Given the description of an element on the screen output the (x, y) to click on. 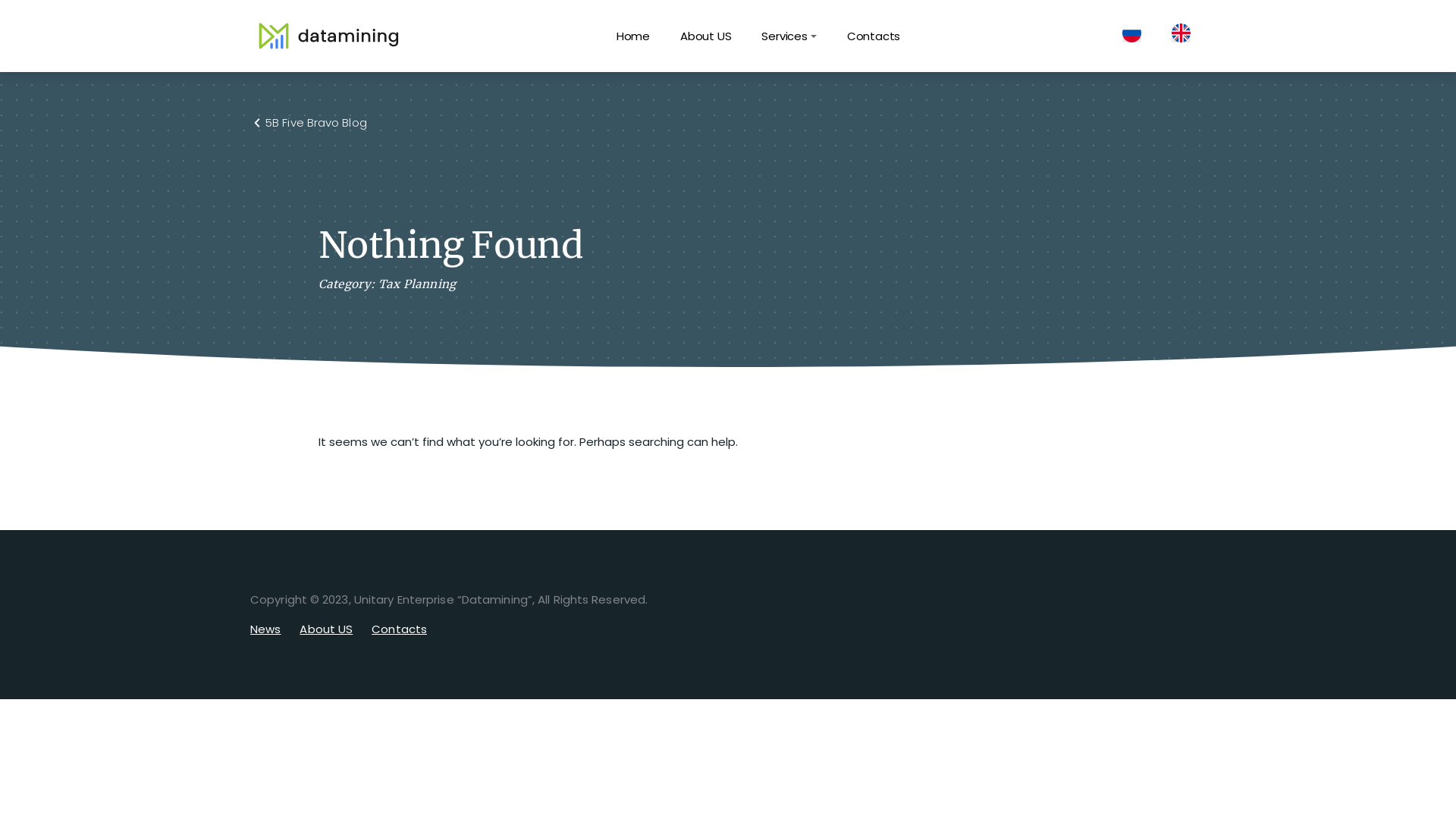
Contacts Element type: text (873, 36)
5B Five Bravo Blog Element type: text (316, 122)
About US Element type: text (705, 36)
Home Element type: text (633, 36)
News Element type: text (265, 629)
Contacts Element type: text (398, 629)
About US Element type: text (325, 629)
Services Element type: text (788, 36)
